Given the description of an element on the screen output the (x, y) to click on. 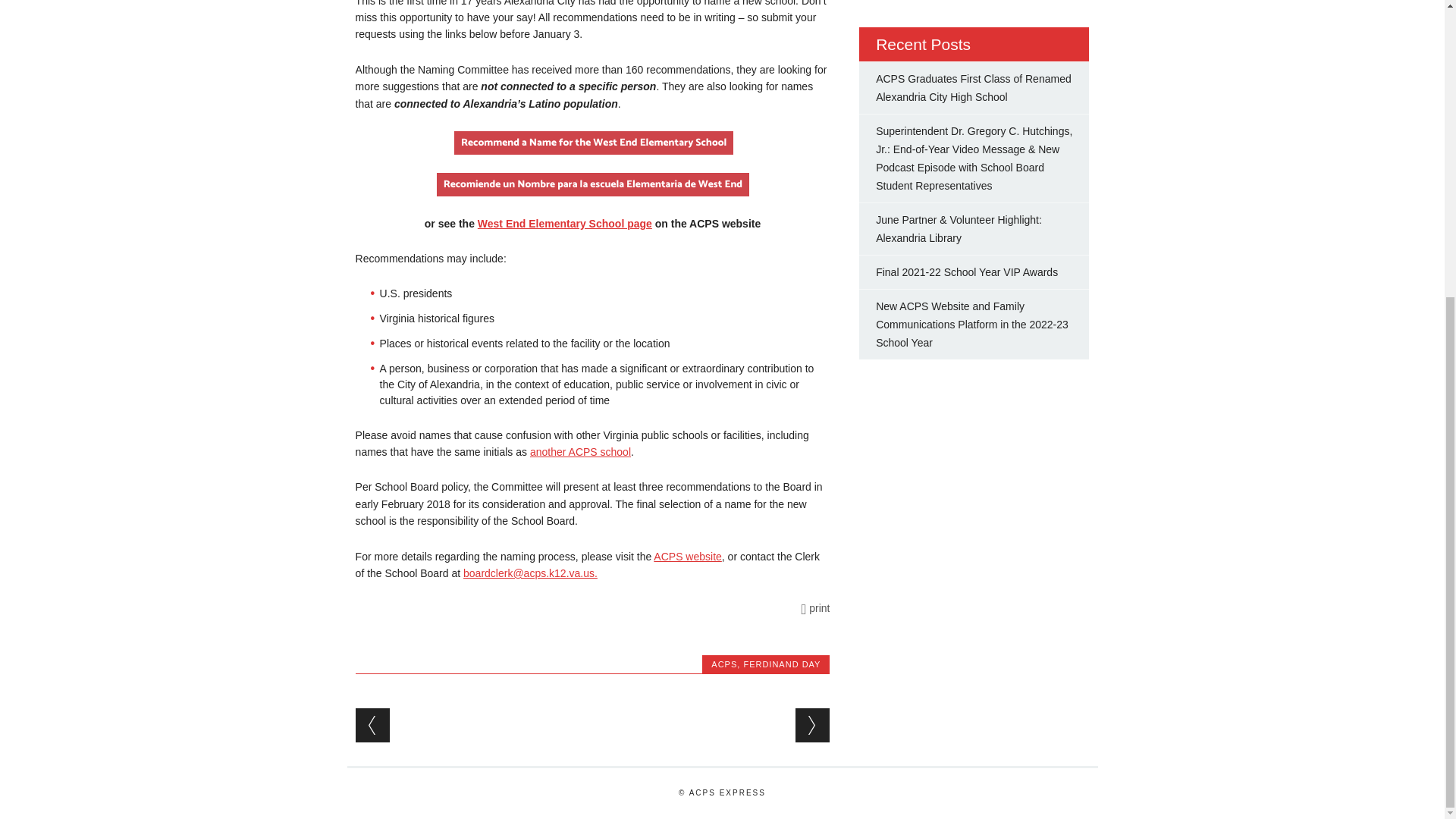
West End Elementary School page (564, 223)
ACPS (723, 664)
Final 2021-22 School Year VIP Awards (967, 272)
another ACPS school (579, 451)
FERDINAND DAY (781, 664)
ACPS website (686, 556)
